Given the description of an element on the screen output the (x, y) to click on. 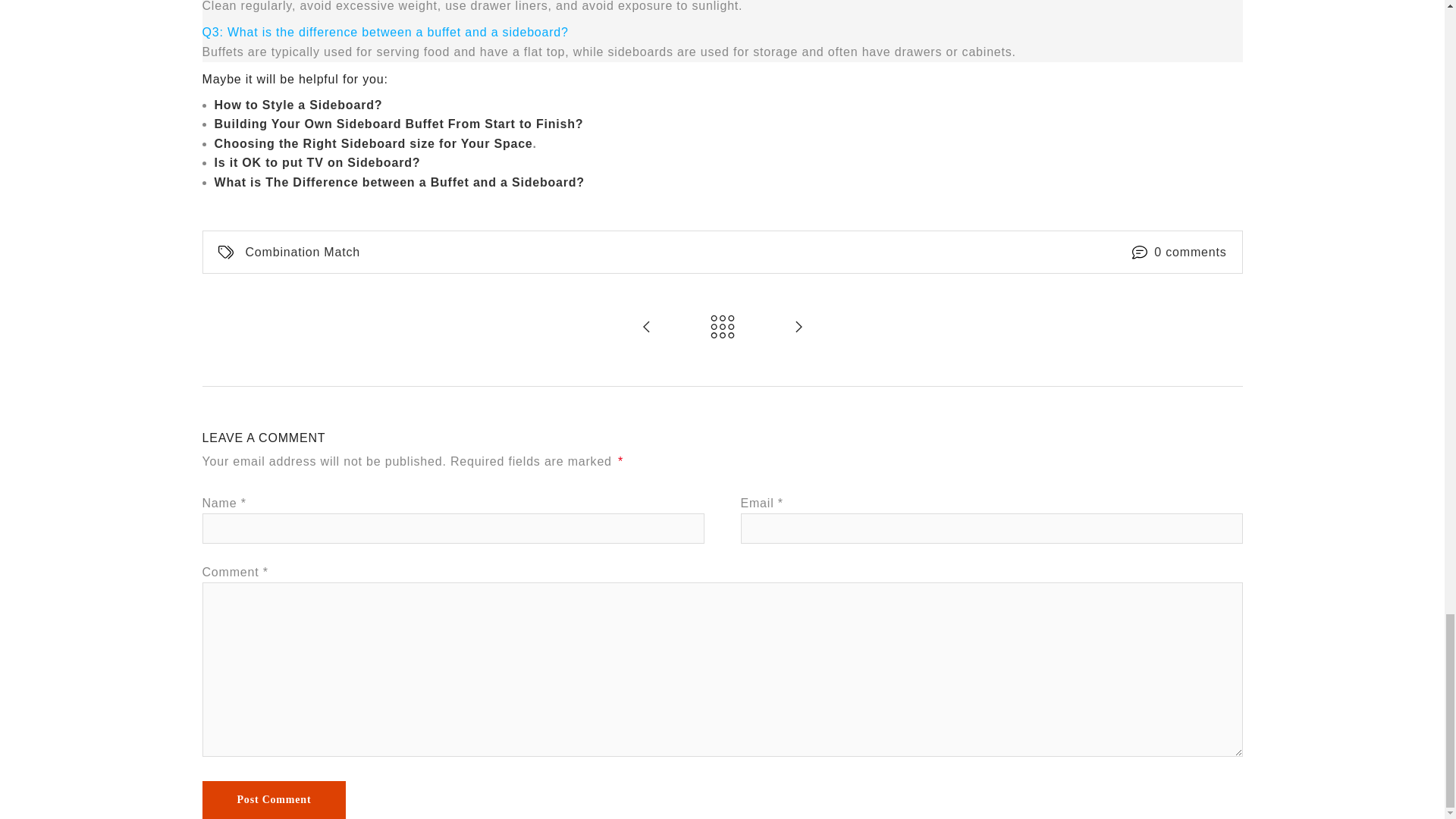
Is it OK to put TV on Sideboard? (317, 162)
Building Your Own Sideboard Buffet From Start to Finish? (398, 124)
Back to News (722, 327)
0 comments (1189, 252)
How to Choose Accent Chair Color? (646, 327)
Combination Match (302, 252)
What is The Difference between a Buffet and a Sideboard? (398, 182)
Choosing the Right Sideboard size for Your Space (373, 143)
How to Style a Sideboard? (297, 105)
